Given the description of an element on the screen output the (x, y) to click on. 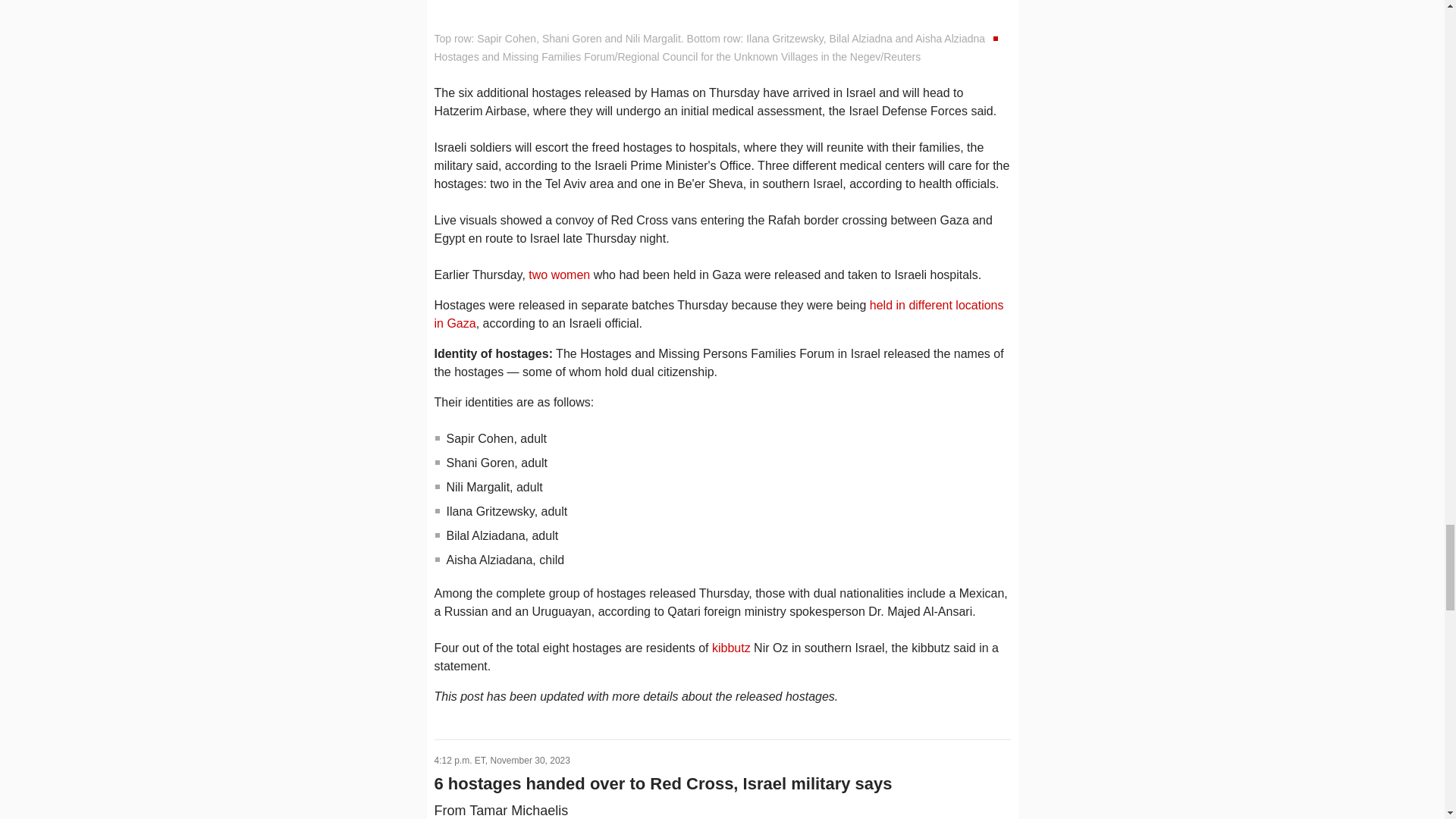
kibbutz (731, 647)
held in different locations in Gaza (718, 314)
two women (558, 274)
